Given the description of an element on the screen output the (x, y) to click on. 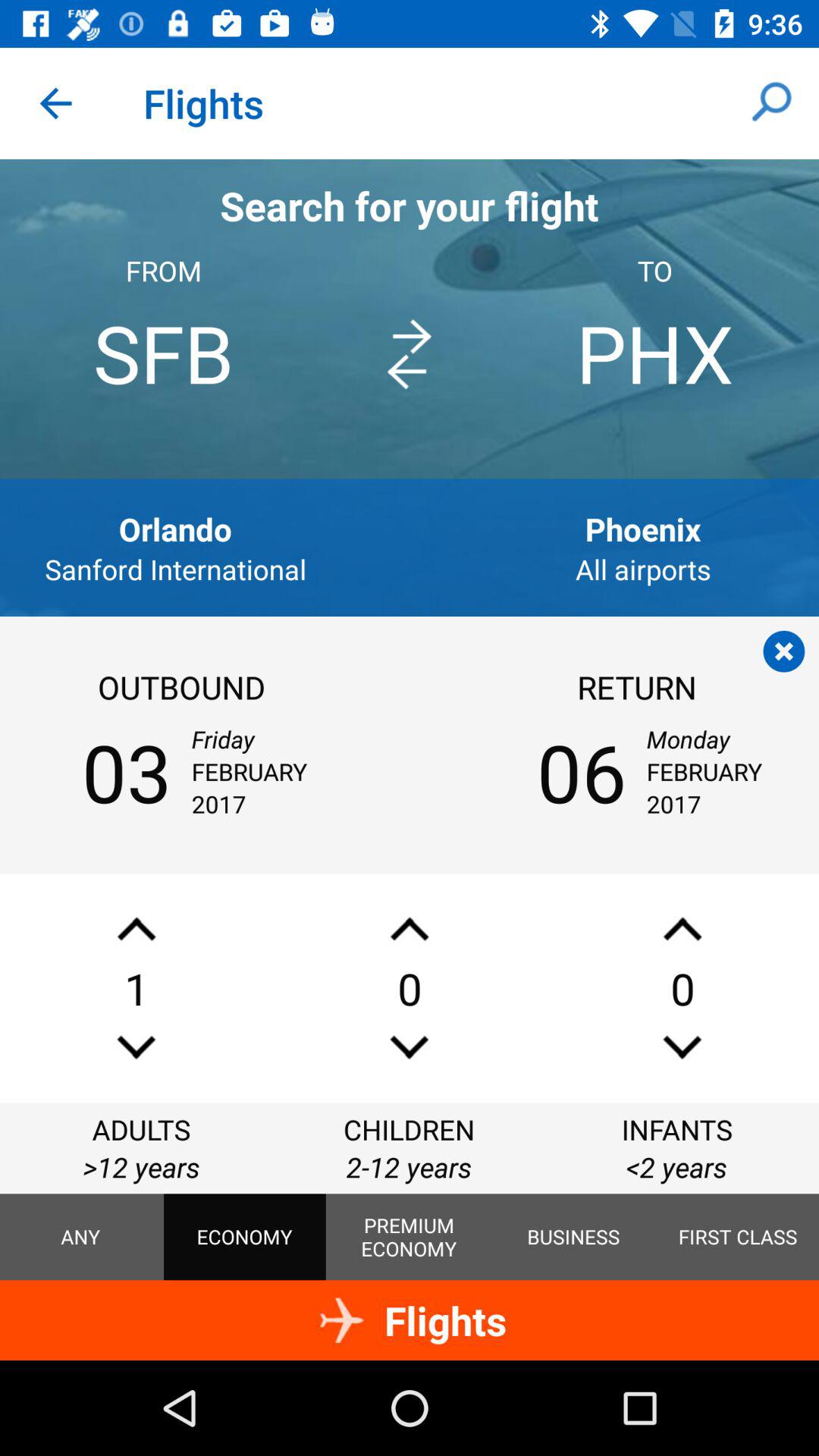
click the any icon (80, 1236)
